Given the description of an element on the screen output the (x, y) to click on. 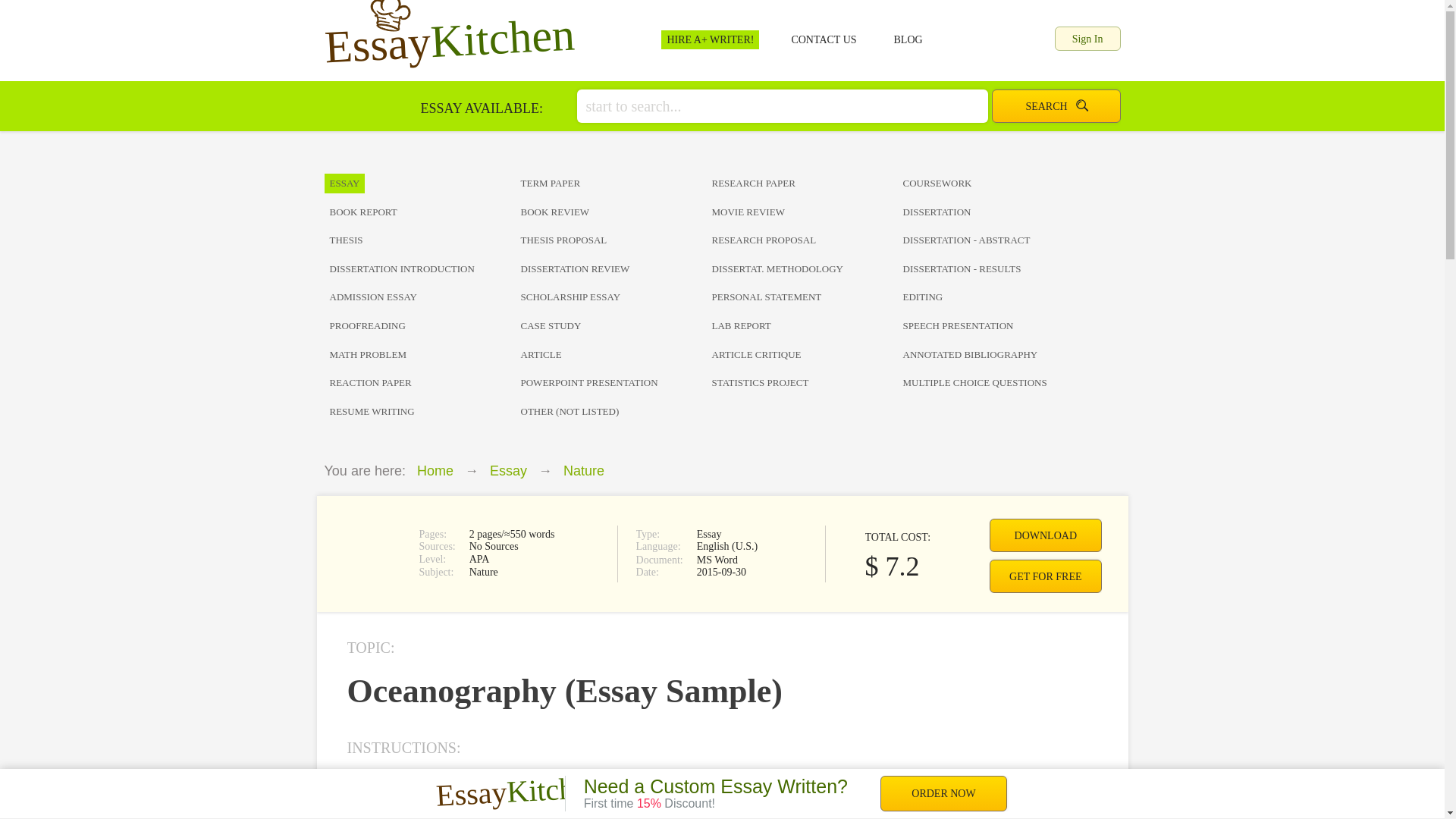
ESSAY (419, 183)
EDITING (993, 297)
SPEECH PRESENTATION (993, 326)
EssayKitchen (448, 33)
RESEARCH PROPOSAL (802, 240)
Search (1056, 105)
DISSERTATION INTRODUCTION (419, 268)
BLOG (908, 39)
DISSERTATION - RESULTS (993, 268)
BOOK REPORT (419, 212)
